Given the description of an element on the screen output the (x, y) to click on. 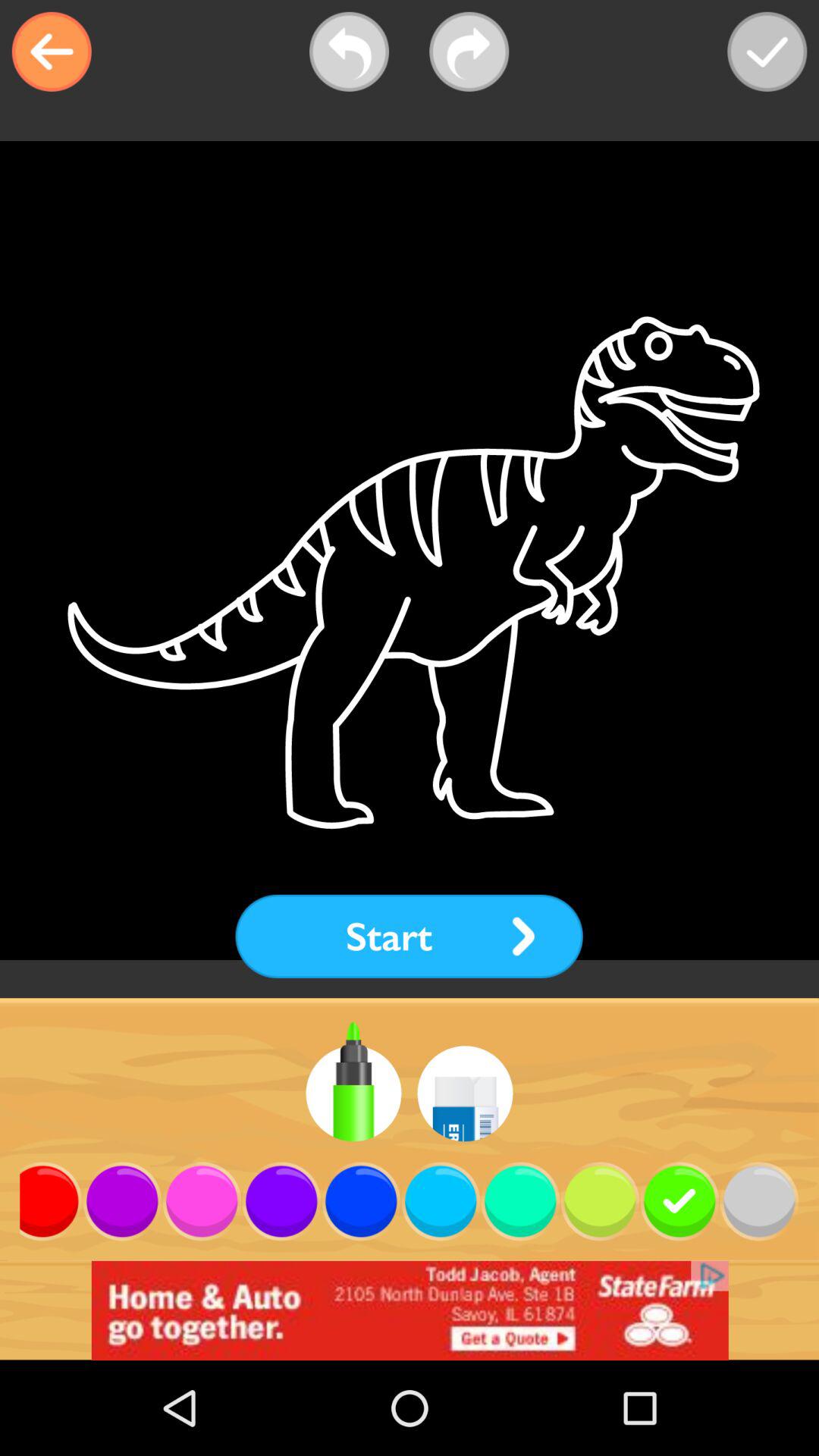
shows forward option (469, 51)
